Given the description of an element on the screen output the (x, y) to click on. 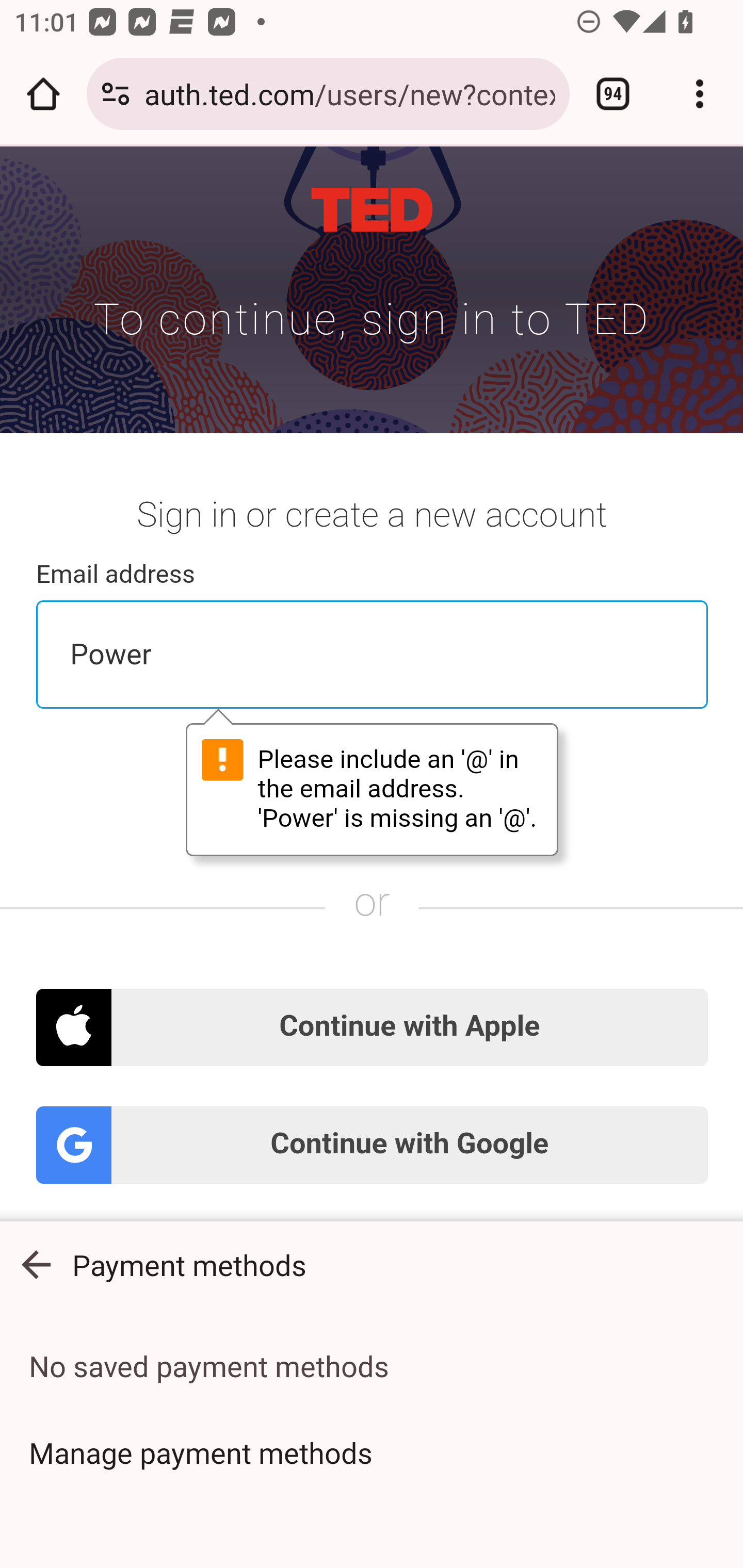
Open the home page (43, 93)
Connection is secure (115, 93)
Switch or close tabs (612, 93)
Customize and control Google Chrome (699, 93)
Power (372, 653)
Continue with Apple (372, 1026)
Continue with Google (372, 1144)
Show keyboard Payment methods (371, 1264)
Show keyboard (36, 1264)
Manage payment methods (371, 1452)
